Given the description of an element on the screen output the (x, y) to click on. 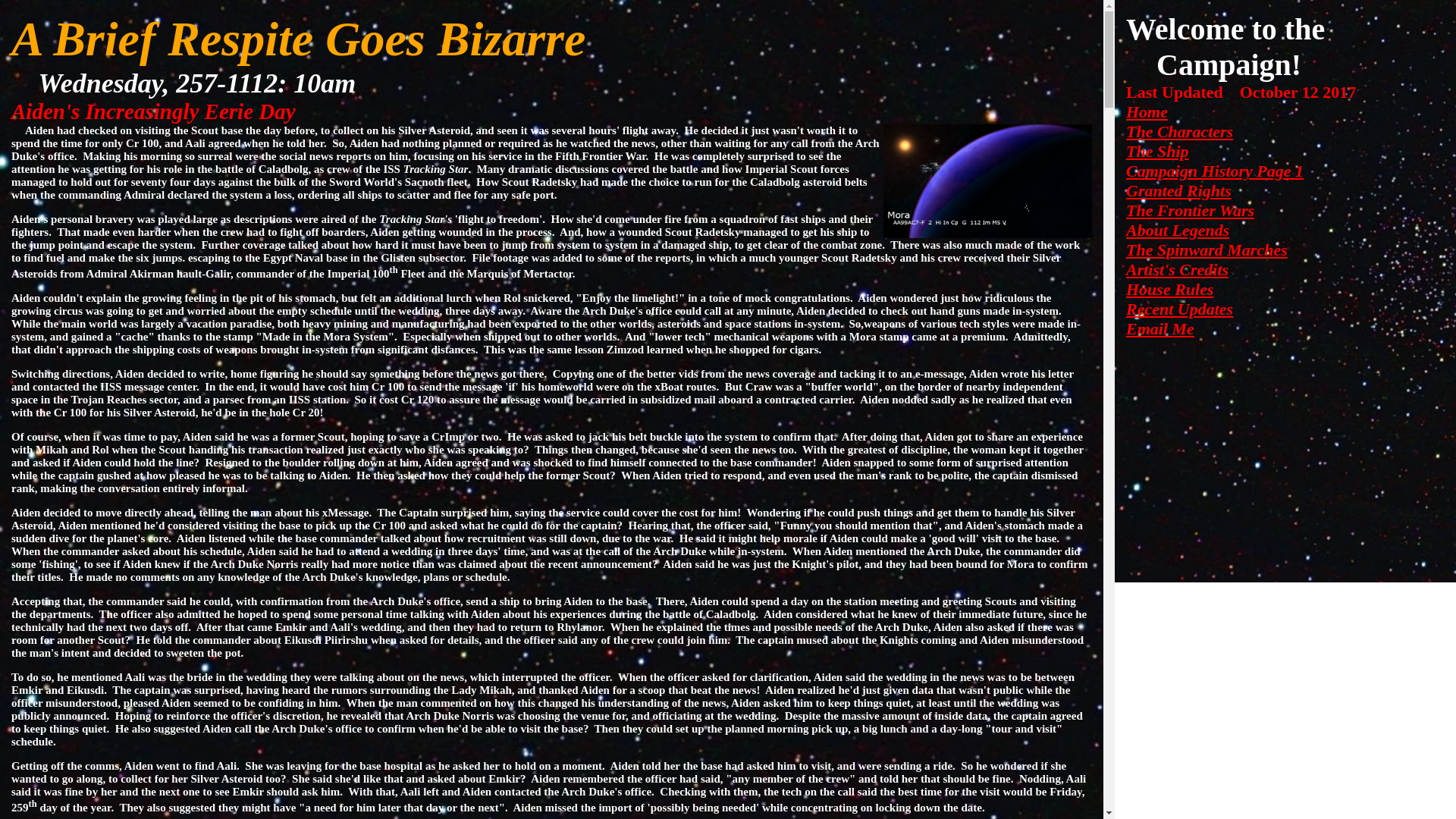
Recent Updates (1179, 308)
Artist's Credits (1176, 269)
Campaign History Page 1 (1214, 170)
Granted Rights (1178, 189)
House Rules (1169, 289)
Home (1146, 111)
The Characters (1179, 131)
Email Me (1159, 328)
About Legends (1176, 229)
The Ship (1157, 150)
The Spinward Marches (1206, 249)
The Frontier Wars (1189, 210)
